Given the description of an element on the screen output the (x, y) to click on. 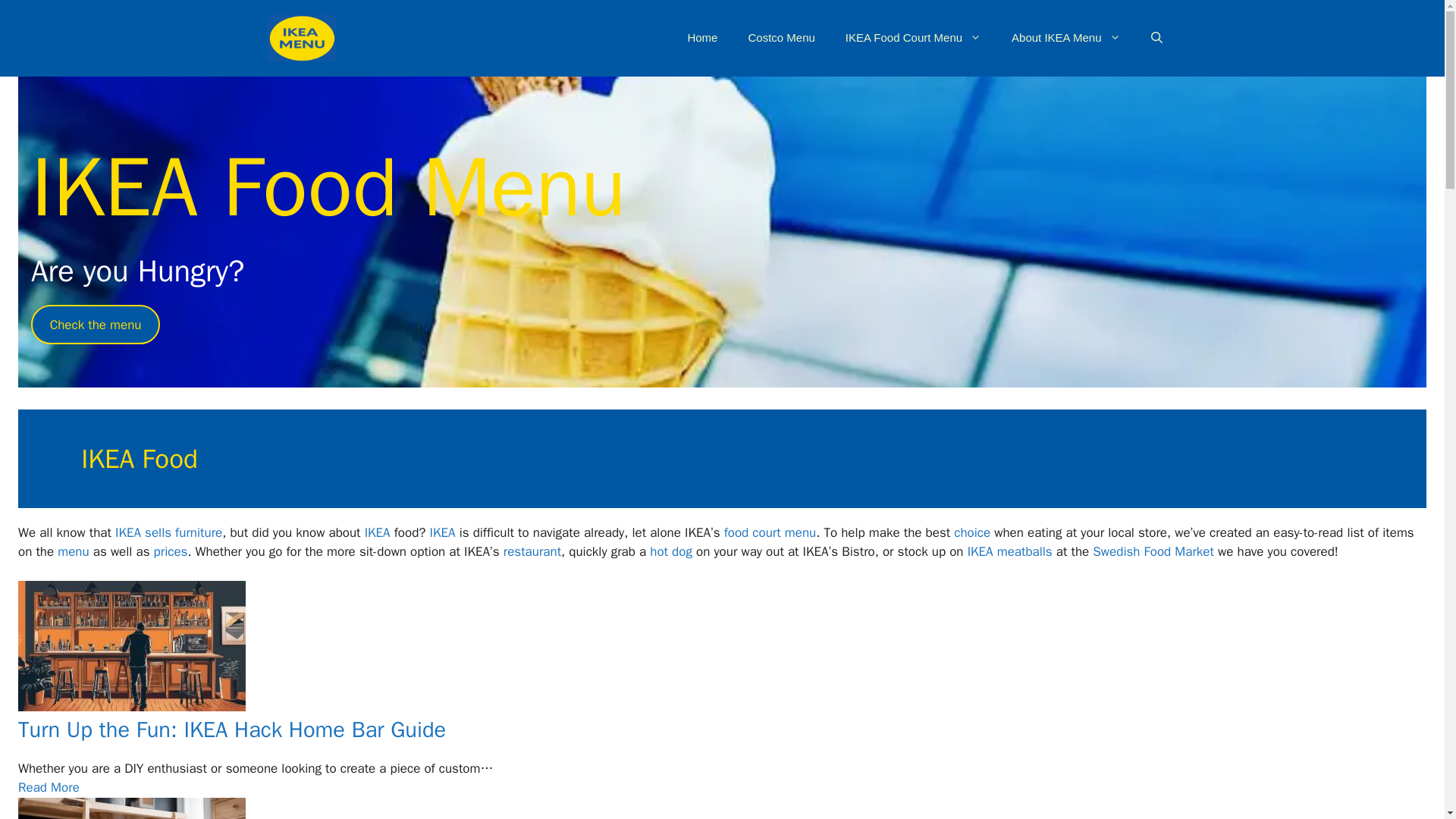
Home (701, 37)
menu (799, 532)
IKEA Food Court Menu (912, 37)
choice (971, 532)
IKEA (980, 551)
meatballs (1024, 551)
restaurant (531, 551)
hot dog (671, 551)
IKEA (442, 532)
IKEA sells furniture (168, 532)
